Given the description of an element on the screen output the (x, y) to click on. 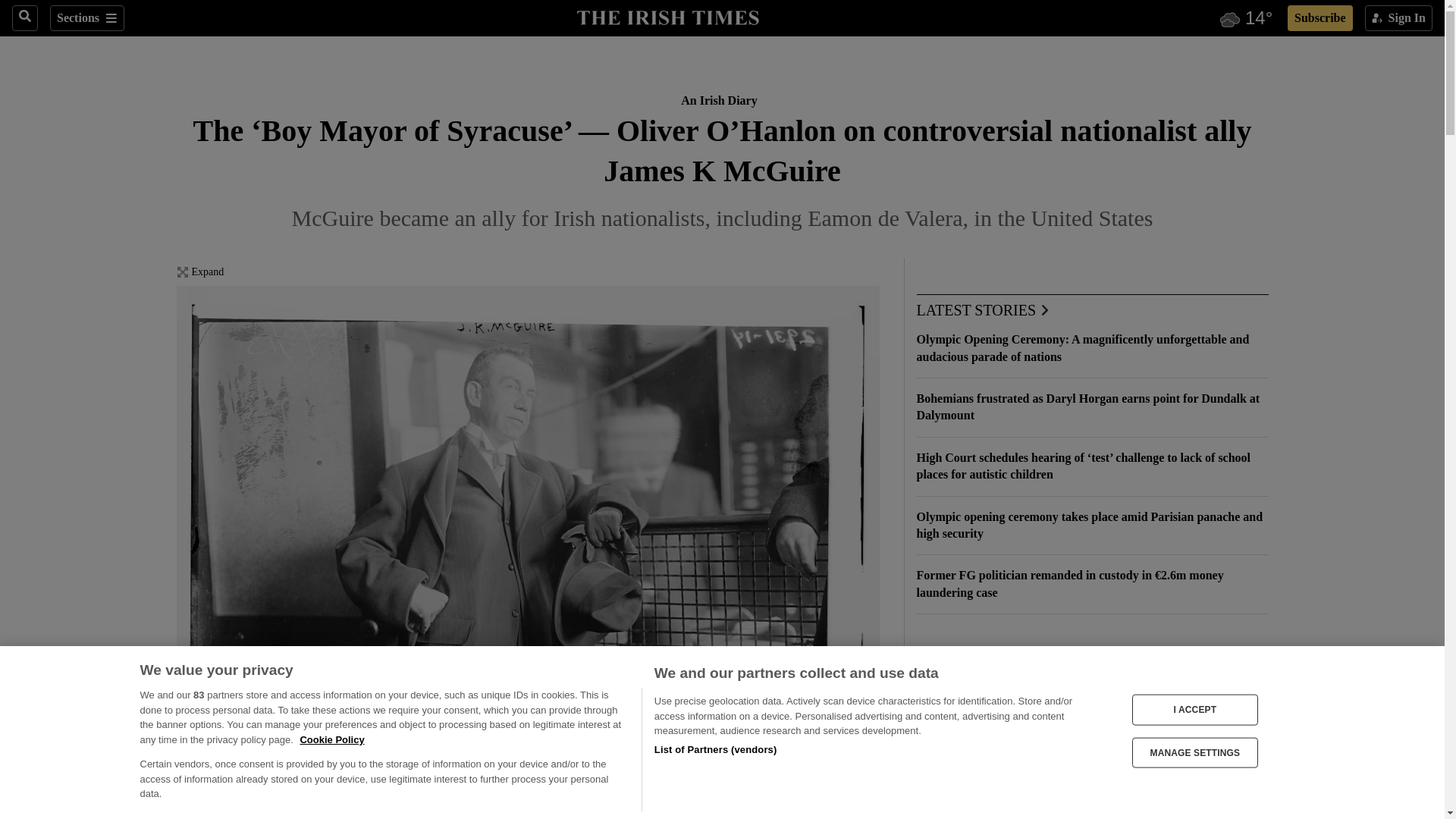
Subscribe (1319, 17)
The Irish Times (667, 16)
Sign In (1398, 17)
Sections (86, 17)
